Given the description of an element on the screen output the (x, y) to click on. 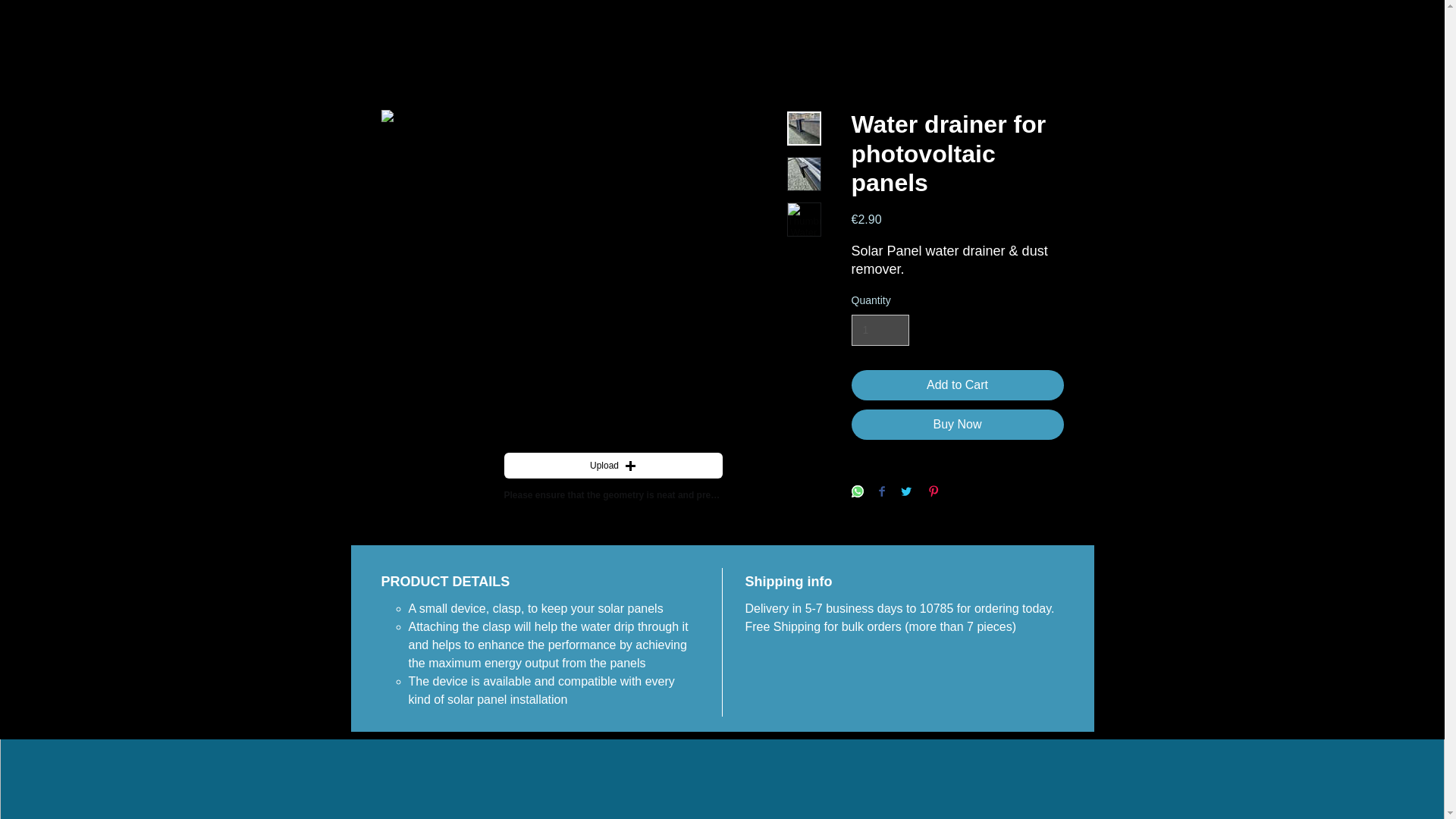
Buy Now (956, 424)
Add to Cart (956, 385)
1 (879, 329)
Please ensure that the geometry is neat and precise. (612, 495)
